Given the description of an element on the screen output the (x, y) to click on. 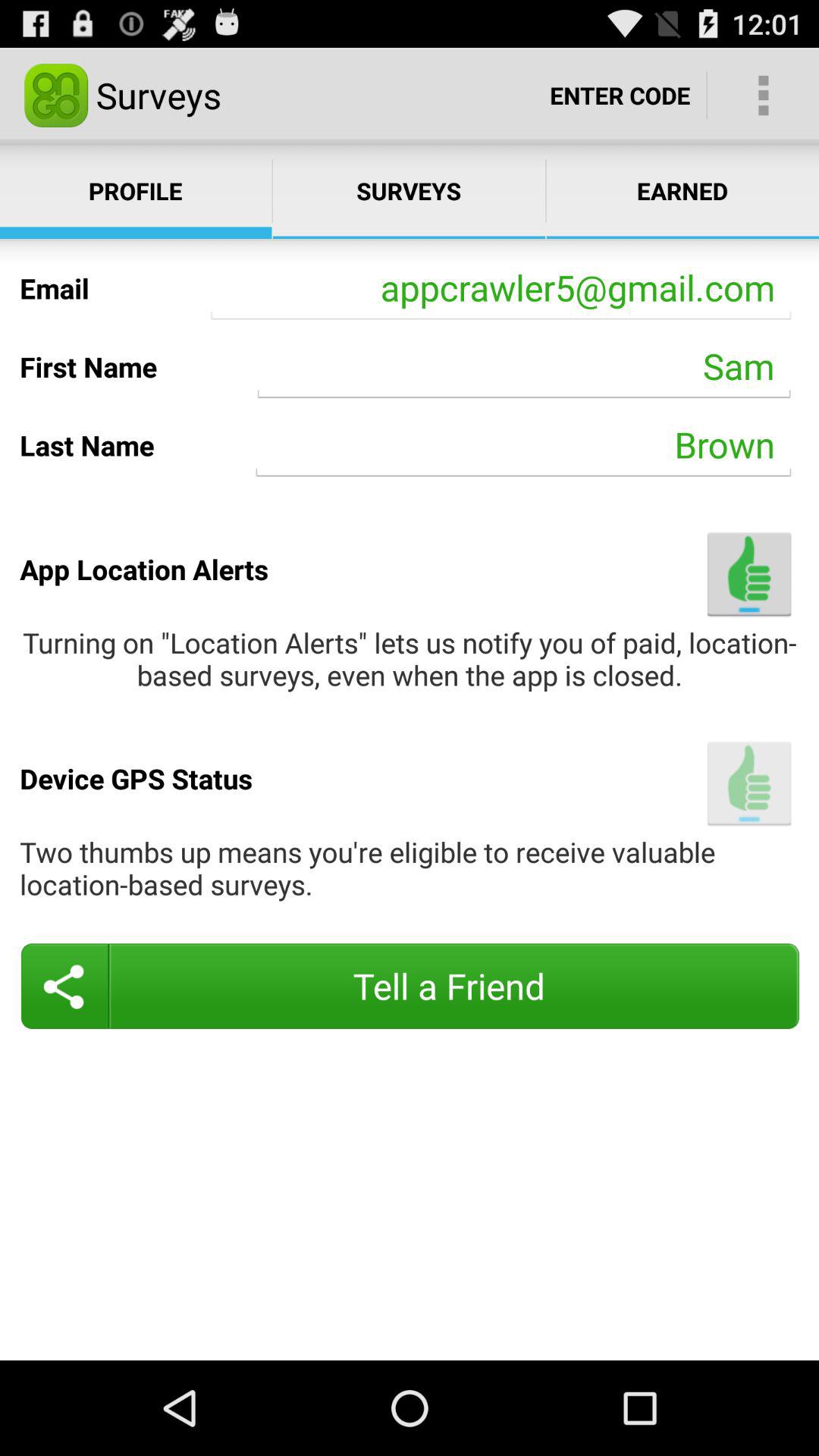
choose icon next to the device gps status item (749, 783)
